Given the description of an element on the screen output the (x, y) to click on. 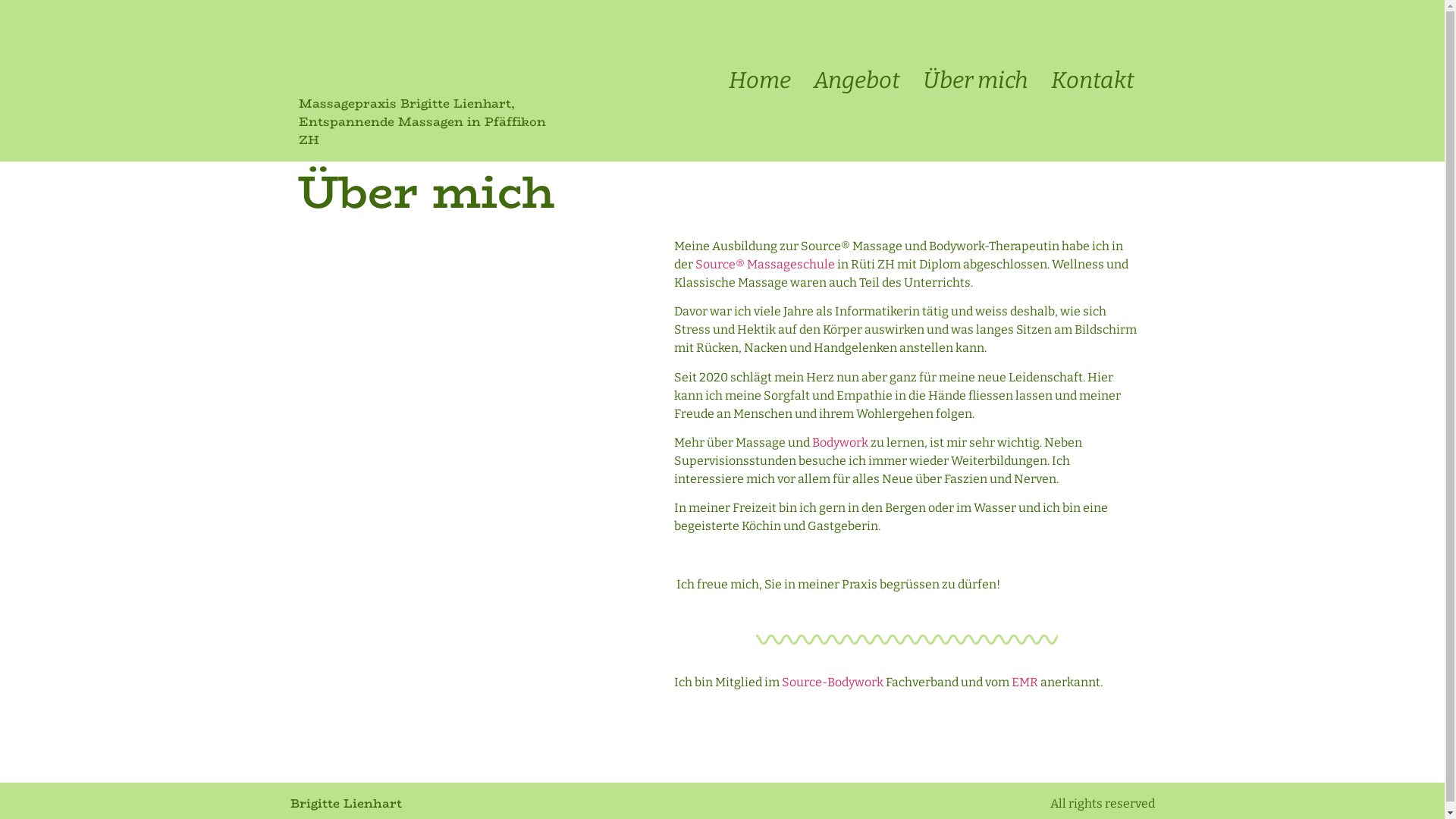
Brigitte Lienhart Element type: text (345, 802)
Home Element type: text (759, 80)
Source-Bodywork Element type: text (832, 681)
Angebot Element type: text (856, 80)
Home Element type: text (722, 185)
EMR Element type: text (1024, 681)
Kontakt Element type: text (1092, 80)
Bodywork Element type: text (840, 442)
